Given the description of an element on the screen output the (x, y) to click on. 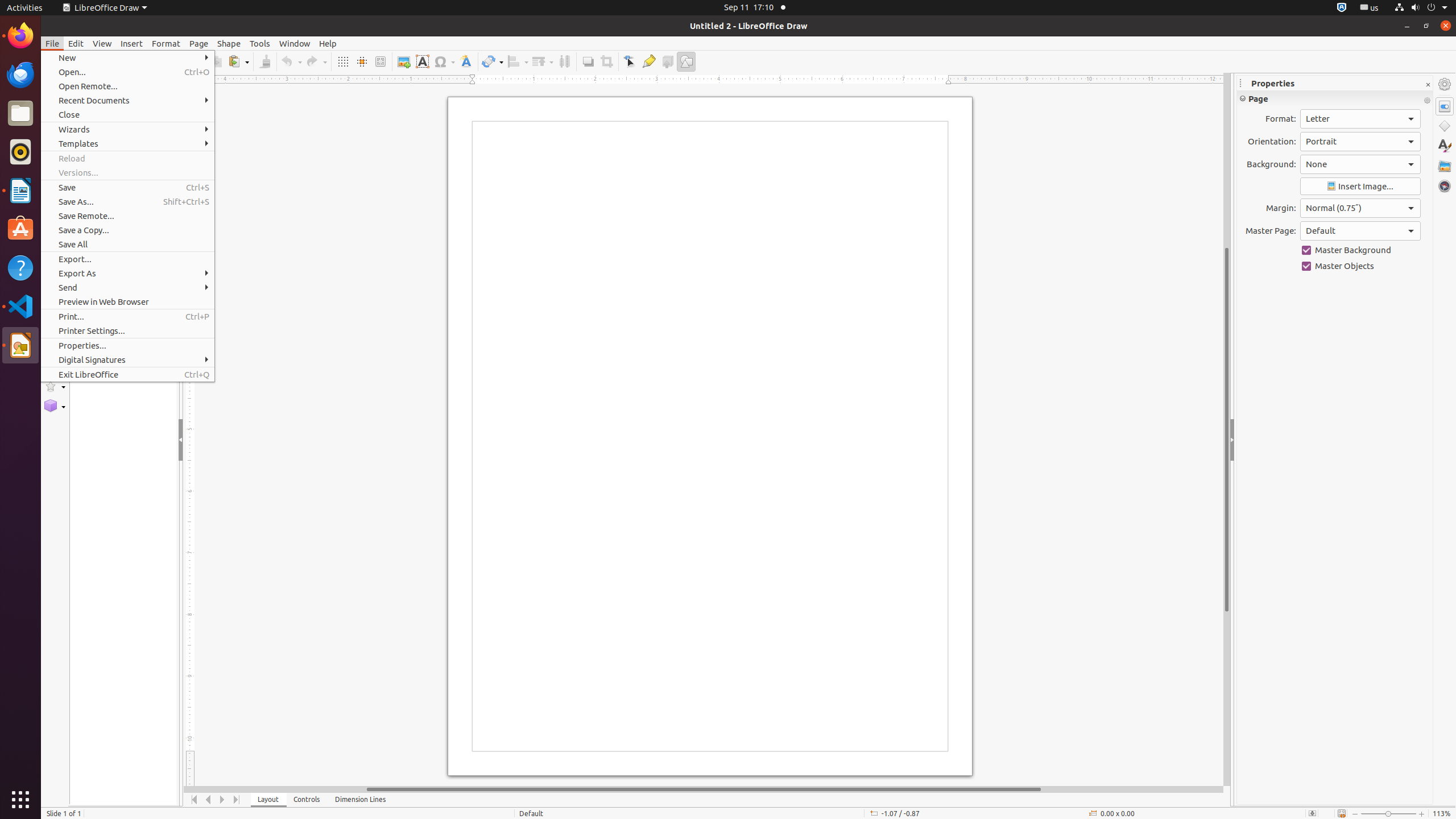
Controls Element type: page-tab (307, 799)
Align Element type: push-button (517, 61)
Arrow Shapes Element type: push-button (54, 326)
Tools Element type: menu (259, 43)
Layout Element type: page-tab (268, 799)
